Given the description of an element on the screen output the (x, y) to click on. 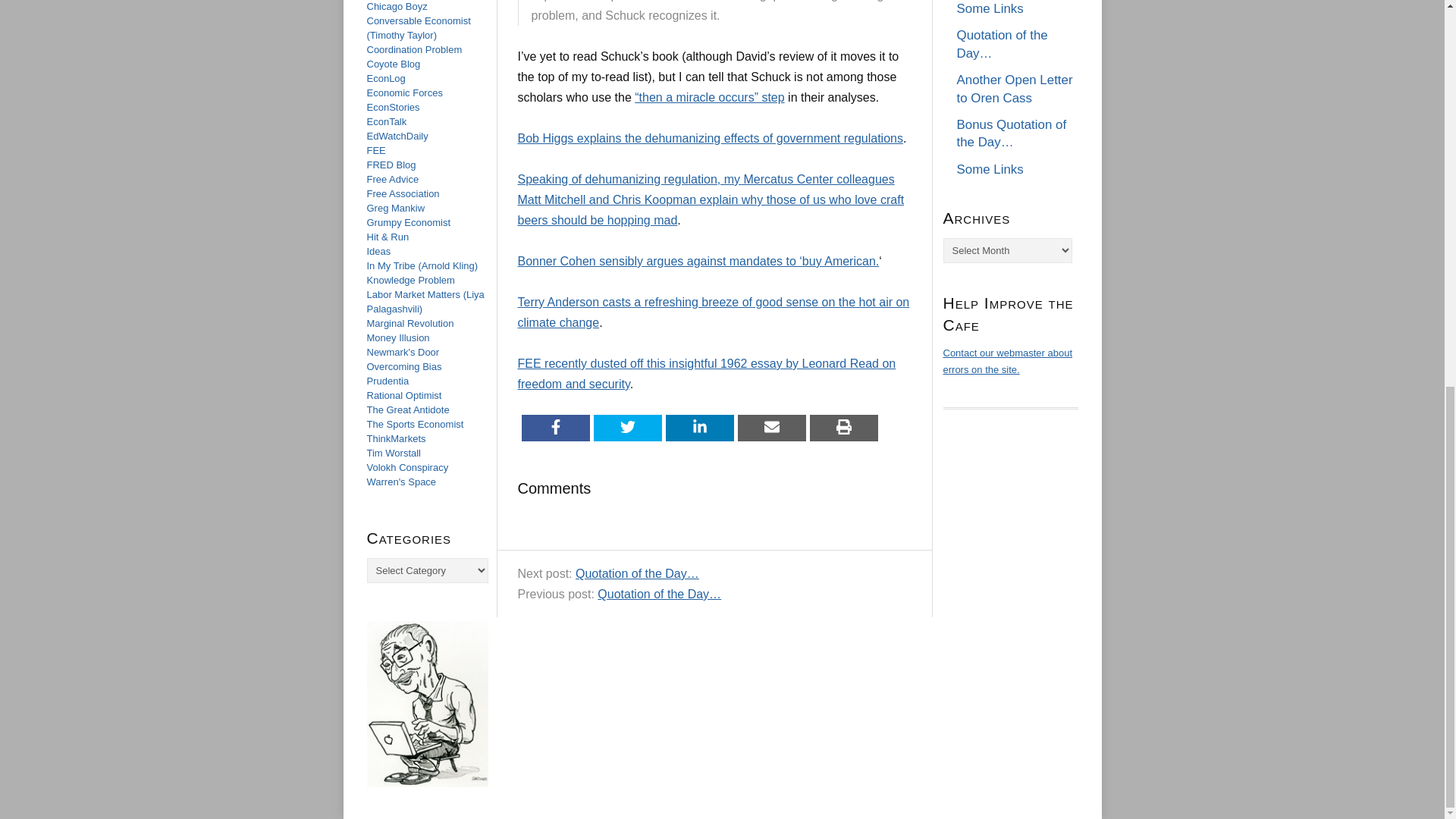
Coordination Problem (414, 49)
Money Illusion (397, 337)
Economic Forces (404, 92)
Knowledge Problem (410, 279)
Marginal Revolution (410, 323)
FRED Blog (391, 164)
EdWatchDaily (397, 135)
Newmark's Door (402, 351)
EconLog (386, 78)
Greg Mankiw (395, 207)
Free Advice (392, 179)
Grumpy Economist (408, 222)
Ideas (378, 251)
Chicago Boyz (397, 6)
EconStories (393, 107)
